Given the description of an element on the screen output the (x, y) to click on. 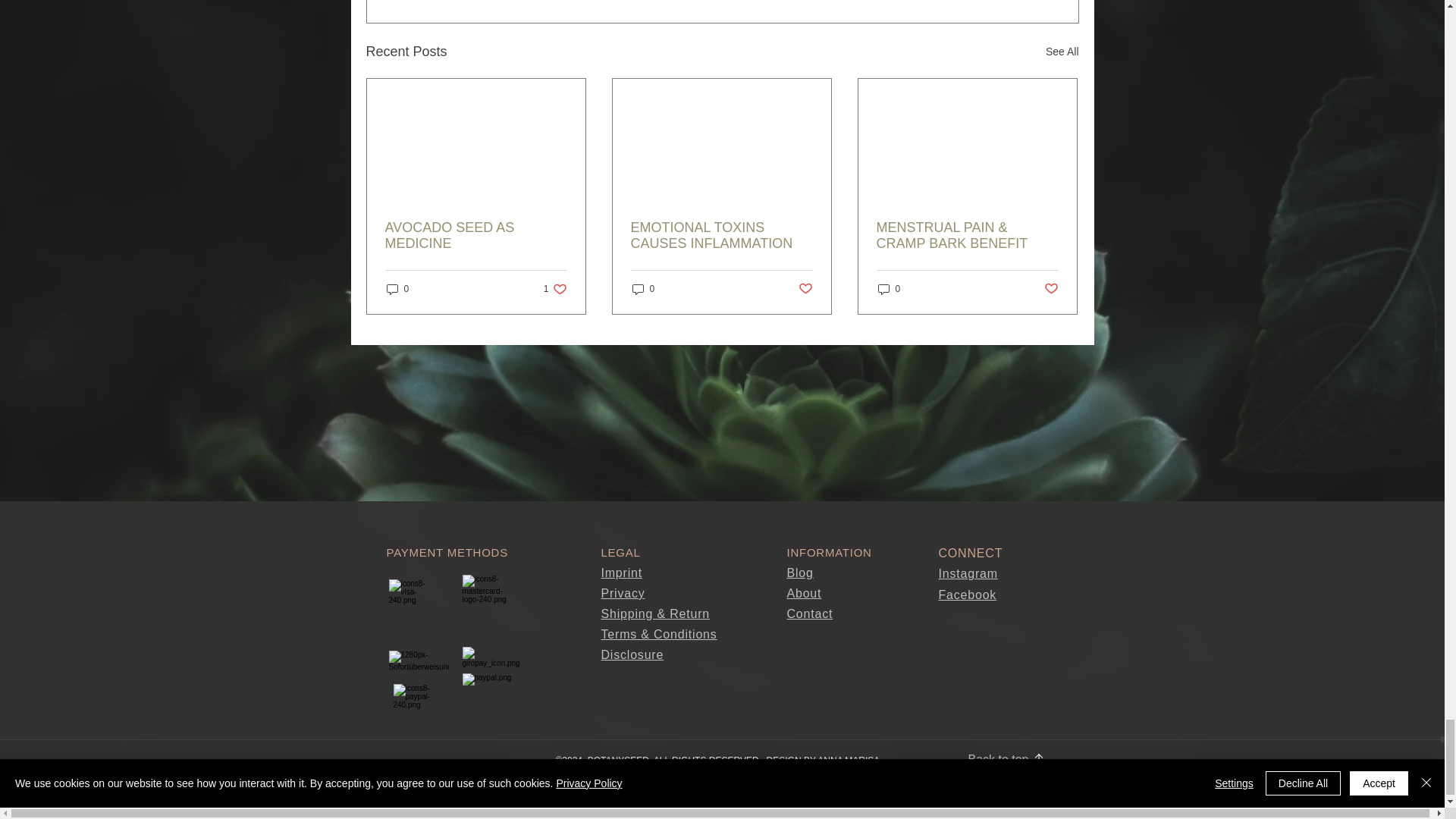
EMOTIONAL TOXINS CAUSES INFLAMMATION (721, 235)
0 (555, 288)
AVOCADO SEED AS MEDICINE (397, 288)
See All (476, 235)
0 (1061, 51)
